Given the description of an element on the screen output the (x, y) to click on. 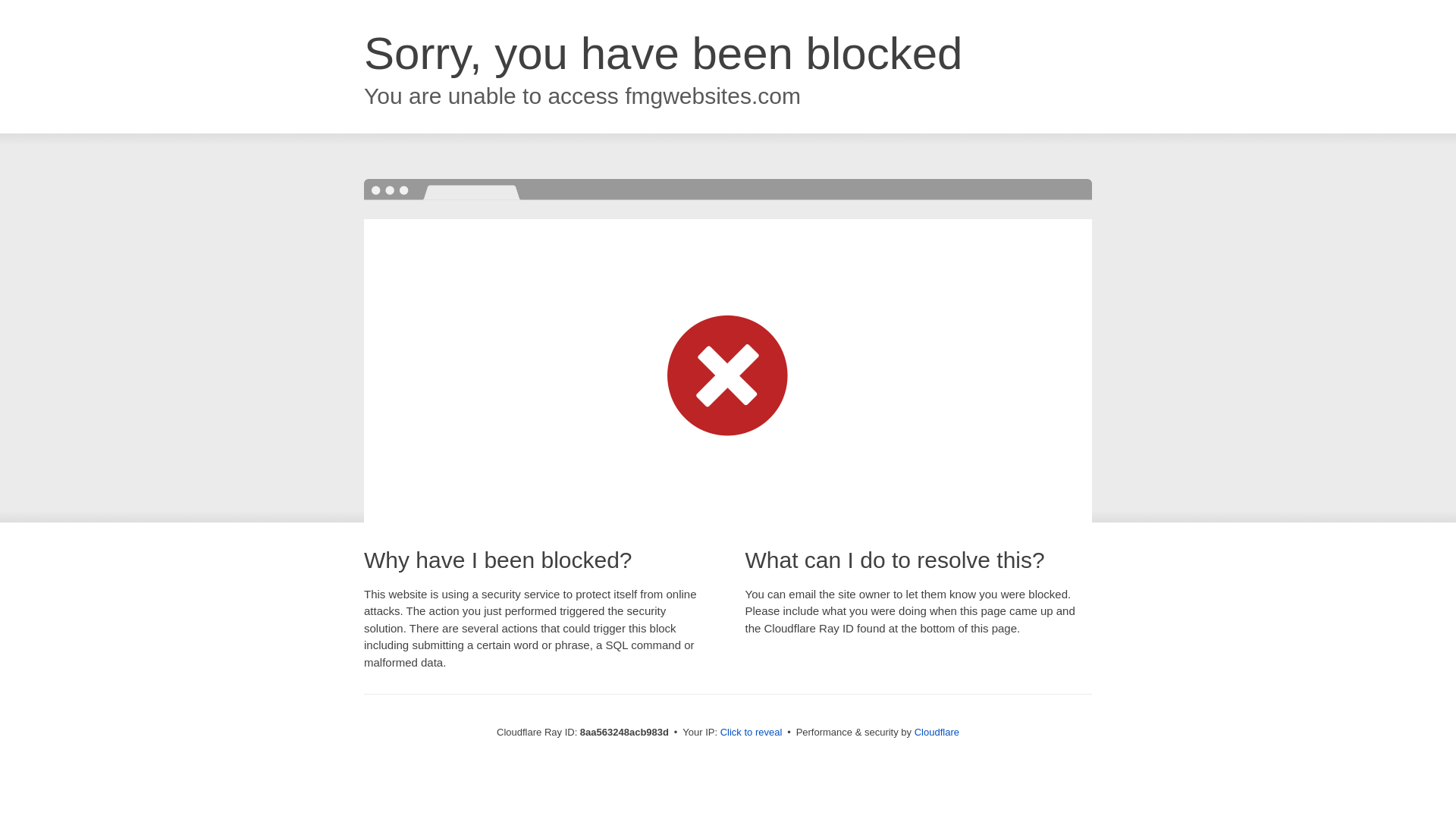
Click to reveal (751, 732)
Cloudflare (936, 731)
